Given the description of an element on the screen output the (x, y) to click on. 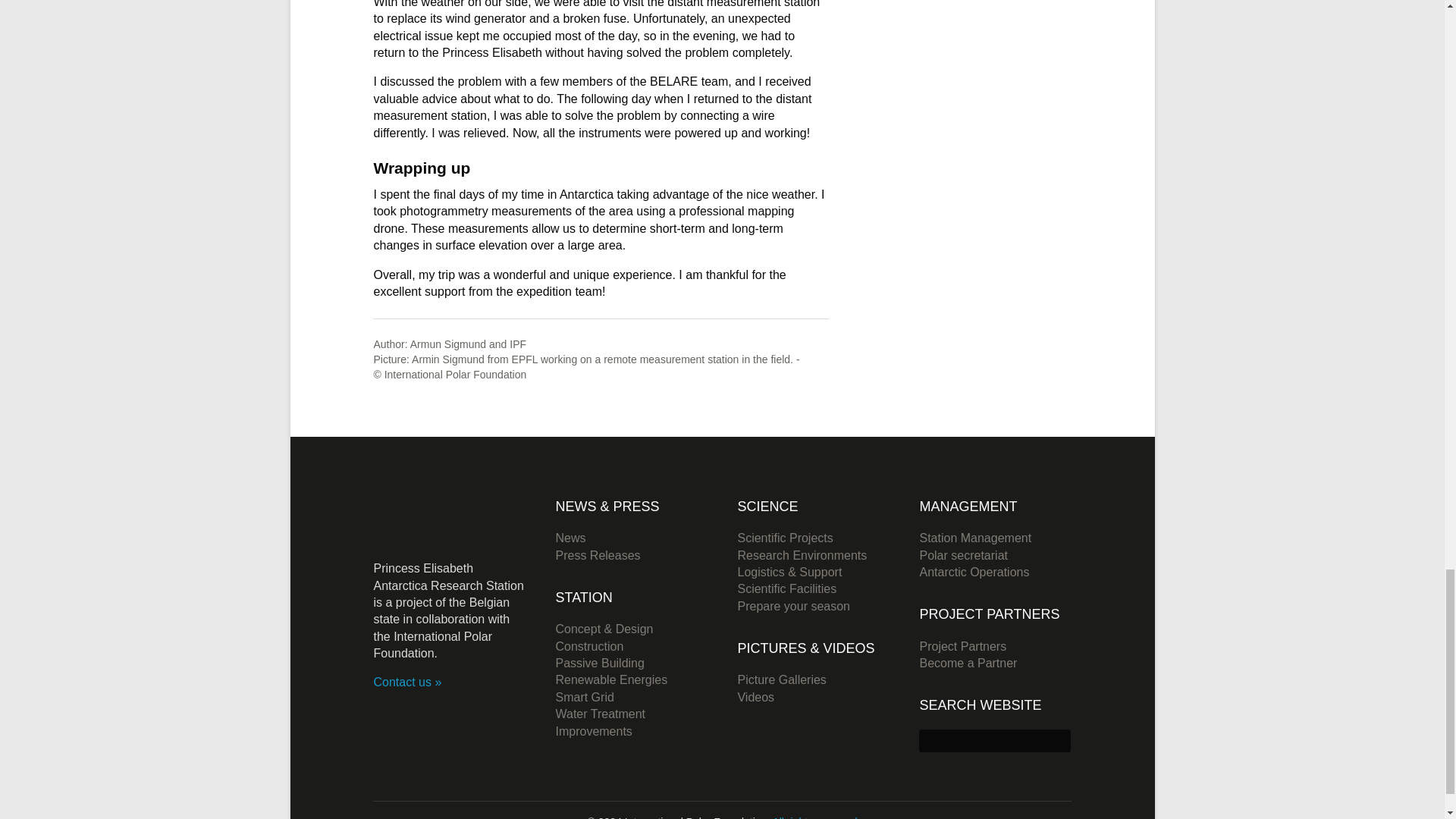
Passive Building (598, 662)
Station Management (974, 537)
Contact us (406, 681)
Become a Partner (967, 662)
facebook (434, 713)
Picture Galleries (780, 679)
vimeo (408, 713)
Polar secretariat (962, 554)
Videos (755, 697)
Smart Grid (583, 697)
News (569, 537)
Construction (588, 645)
Project Partners (962, 645)
twitter (382, 713)
Scientific Facilities (785, 588)
